Given the description of an element on the screen output the (x, y) to click on. 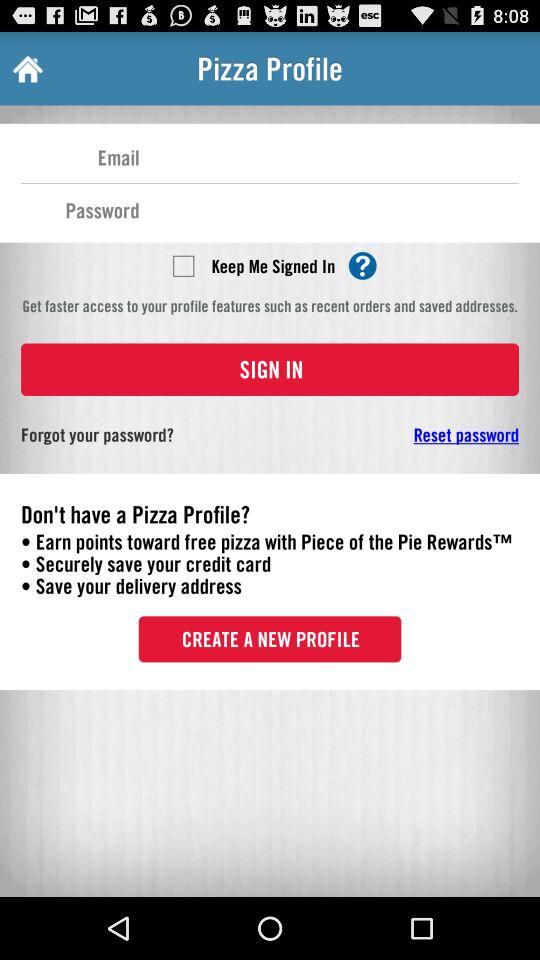
type your email address (329, 156)
